Given the description of an element on the screen output the (x, y) to click on. 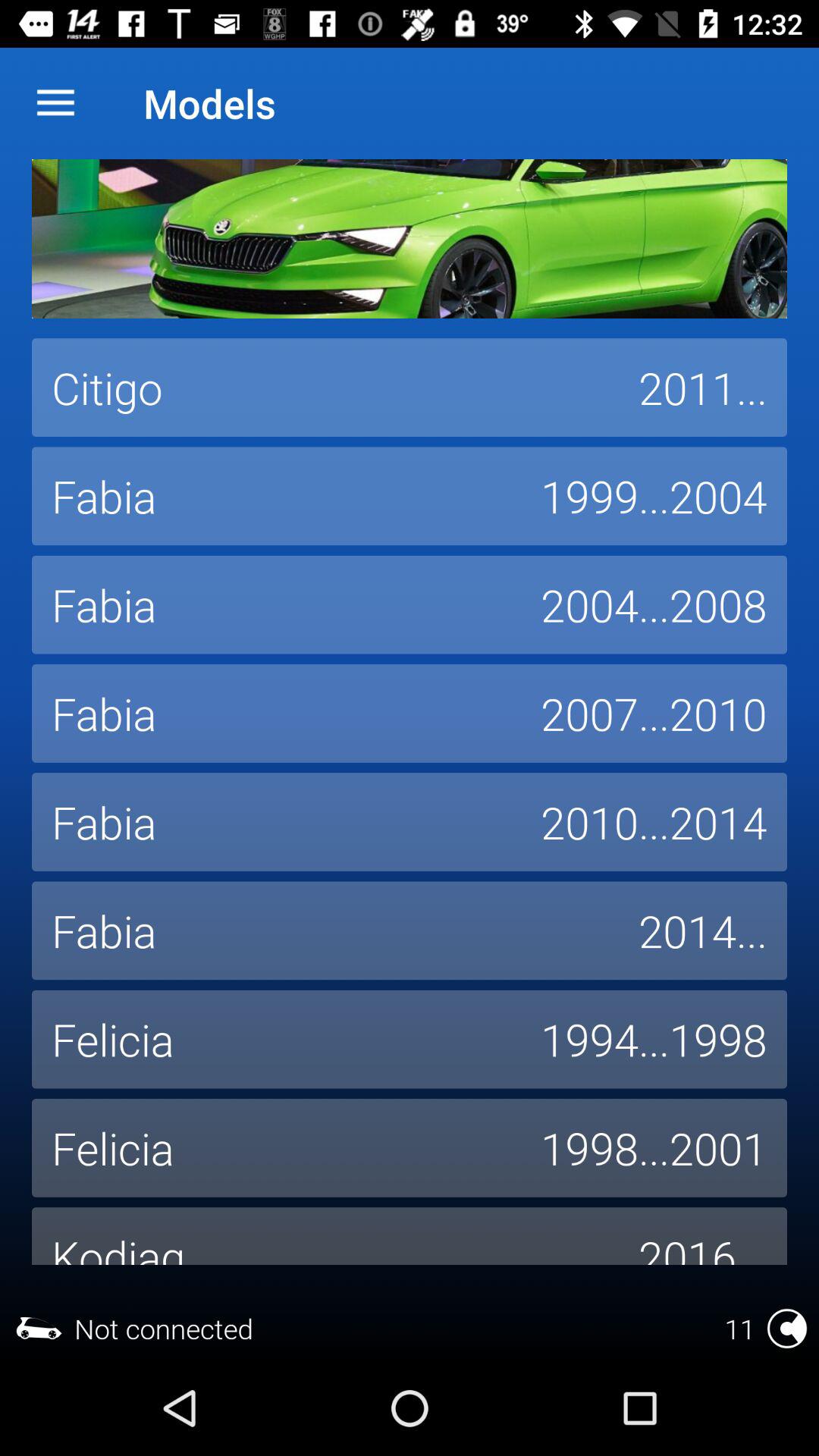
launch item below 1998...2001 icon (702, 1235)
